Given the description of an element on the screen output the (x, y) to click on. 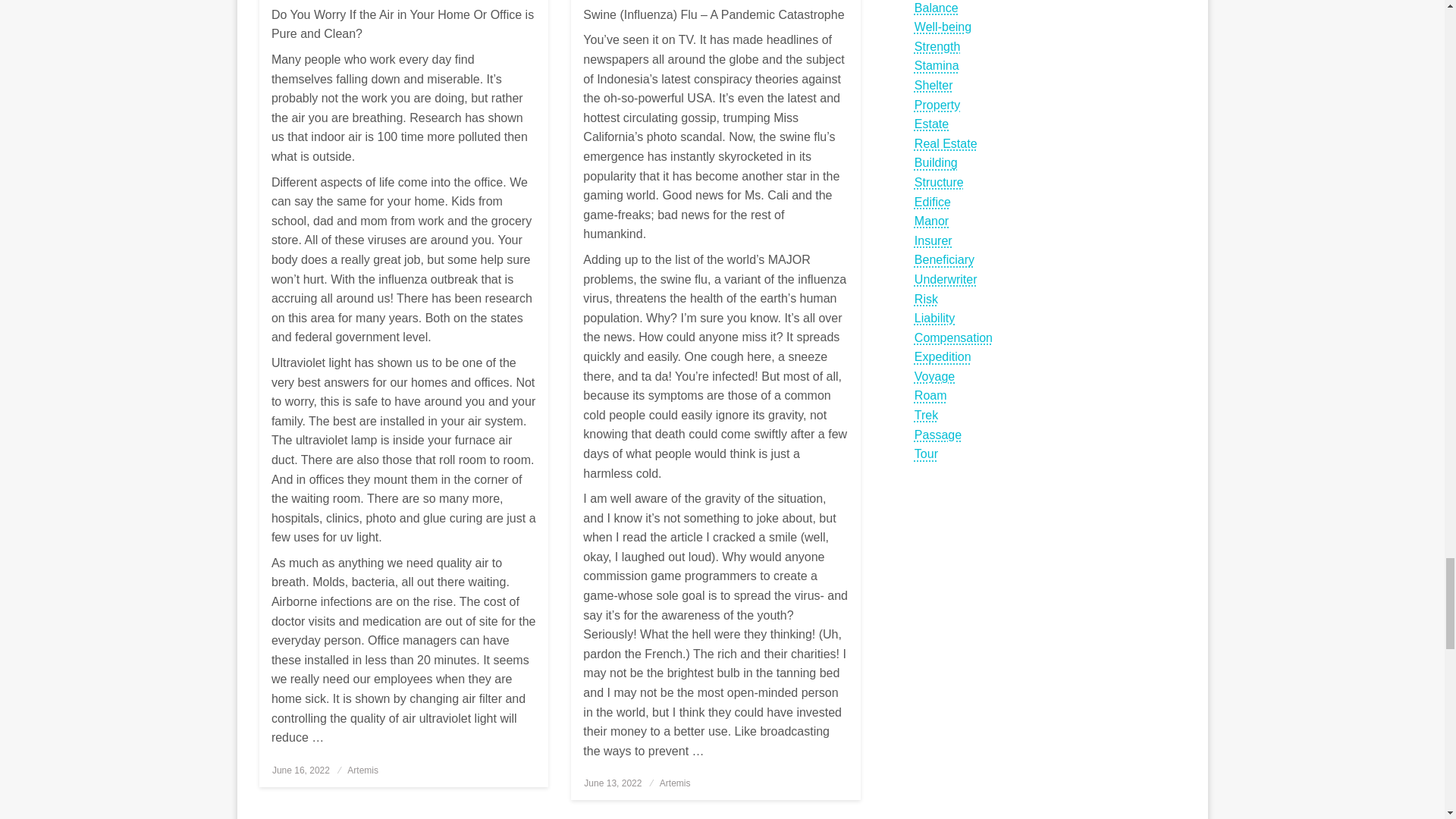
Artemis (362, 769)
Artemis (674, 783)
